Given the description of an element on the screen output the (x, y) to click on. 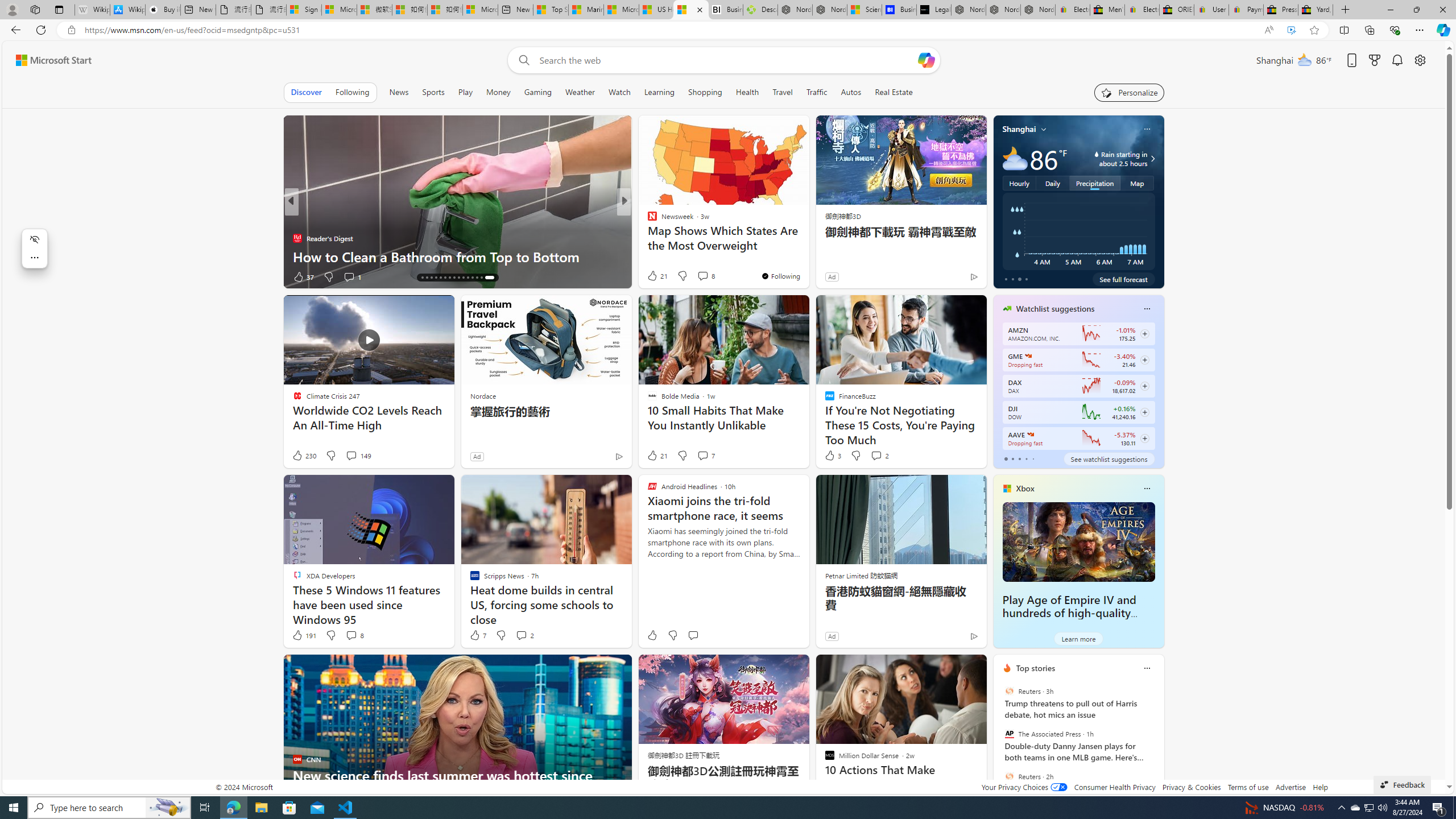
Mostly cloudy (1014, 158)
Map (1137, 183)
View comments 31 Comment (704, 276)
Hide menu (33, 239)
14 Like (652, 276)
PsychLove (647, 219)
water-drop-icon Rain starting in about 2.5 hours (1110, 158)
Buy iPad - Apple (161, 9)
Hide this story (952, 668)
Yard, Garden & Outdoor Living (1315, 9)
View comments 8 Comment (354, 634)
Traffic (816, 92)
